Given the description of an element on the screen output the (x, y) to click on. 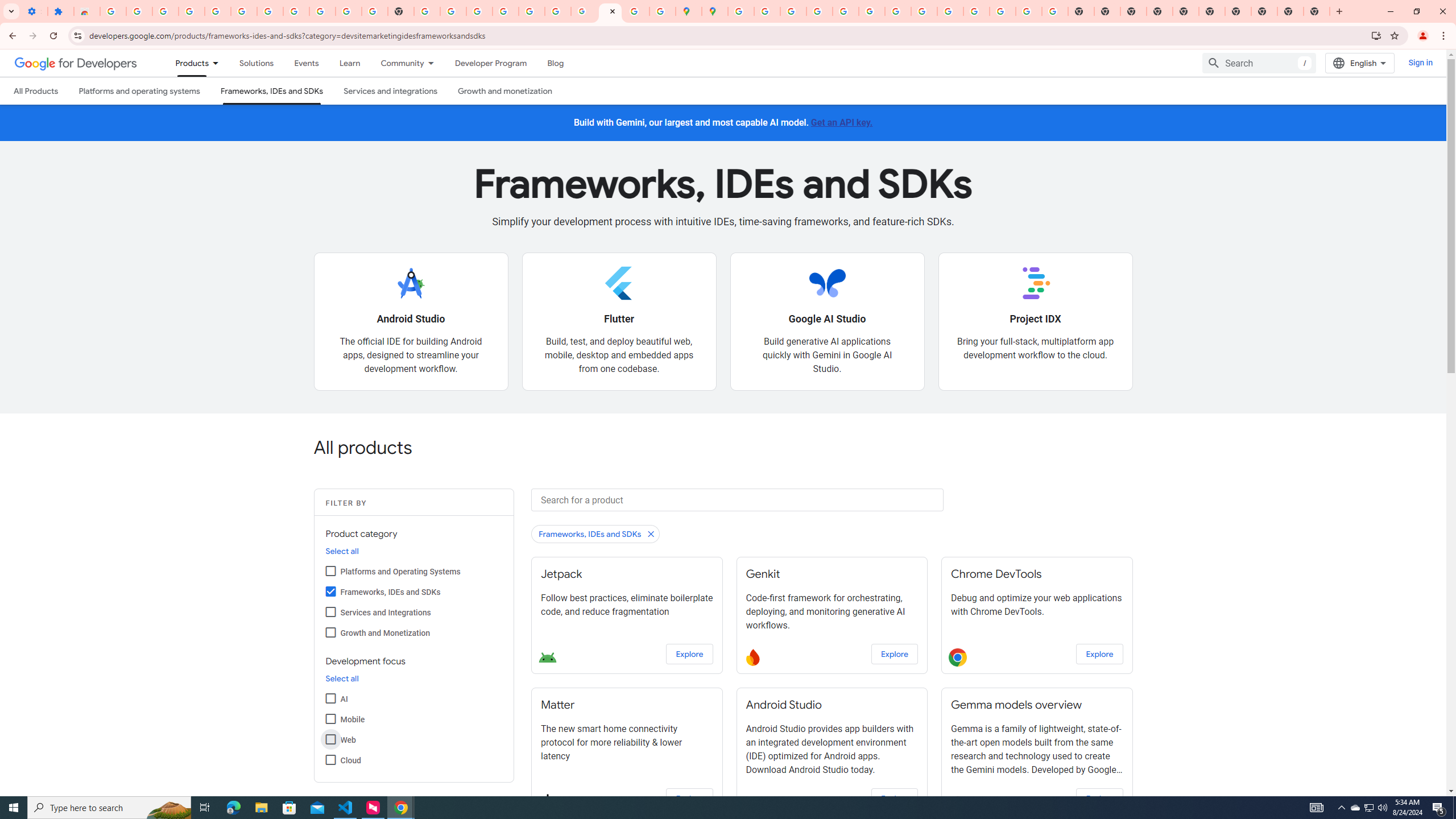
Events (306, 62)
Project IDX logo (1035, 282)
